Given the description of an element on the screen output the (x, y) to click on. 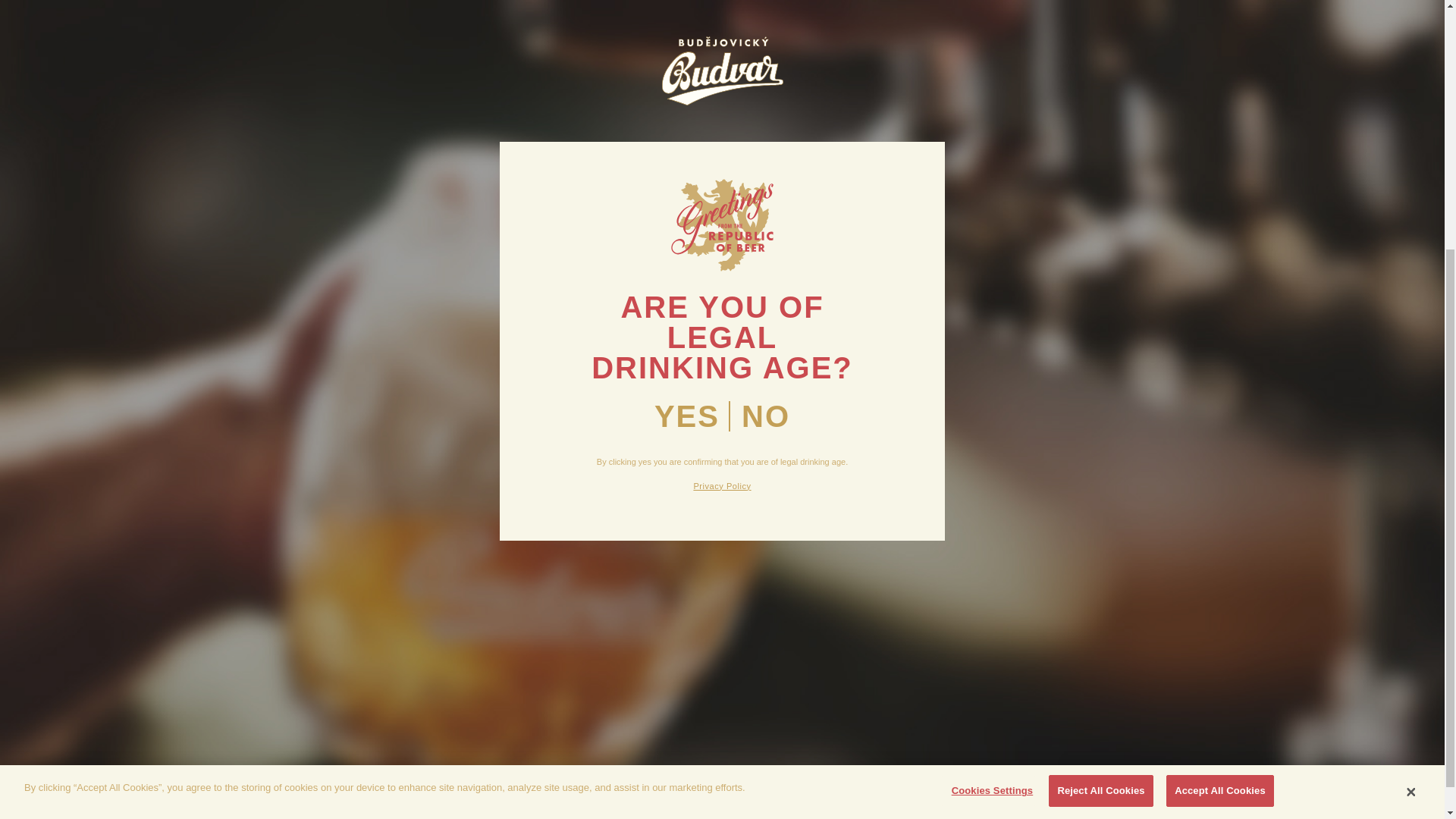
Cookies Settings (987, 427)
Disclaimer (614, 632)
Privacy Policy (614, 602)
DISCLAIMER (614, 632)
YES (686, 52)
TERMS OF BUSINESS (614, 617)
BREWERY (411, 602)
SUBSCRIBE (1126, 625)
Ingredients (411, 617)
Brewery (411, 602)
